Given the description of an element on the screen output the (x, y) to click on. 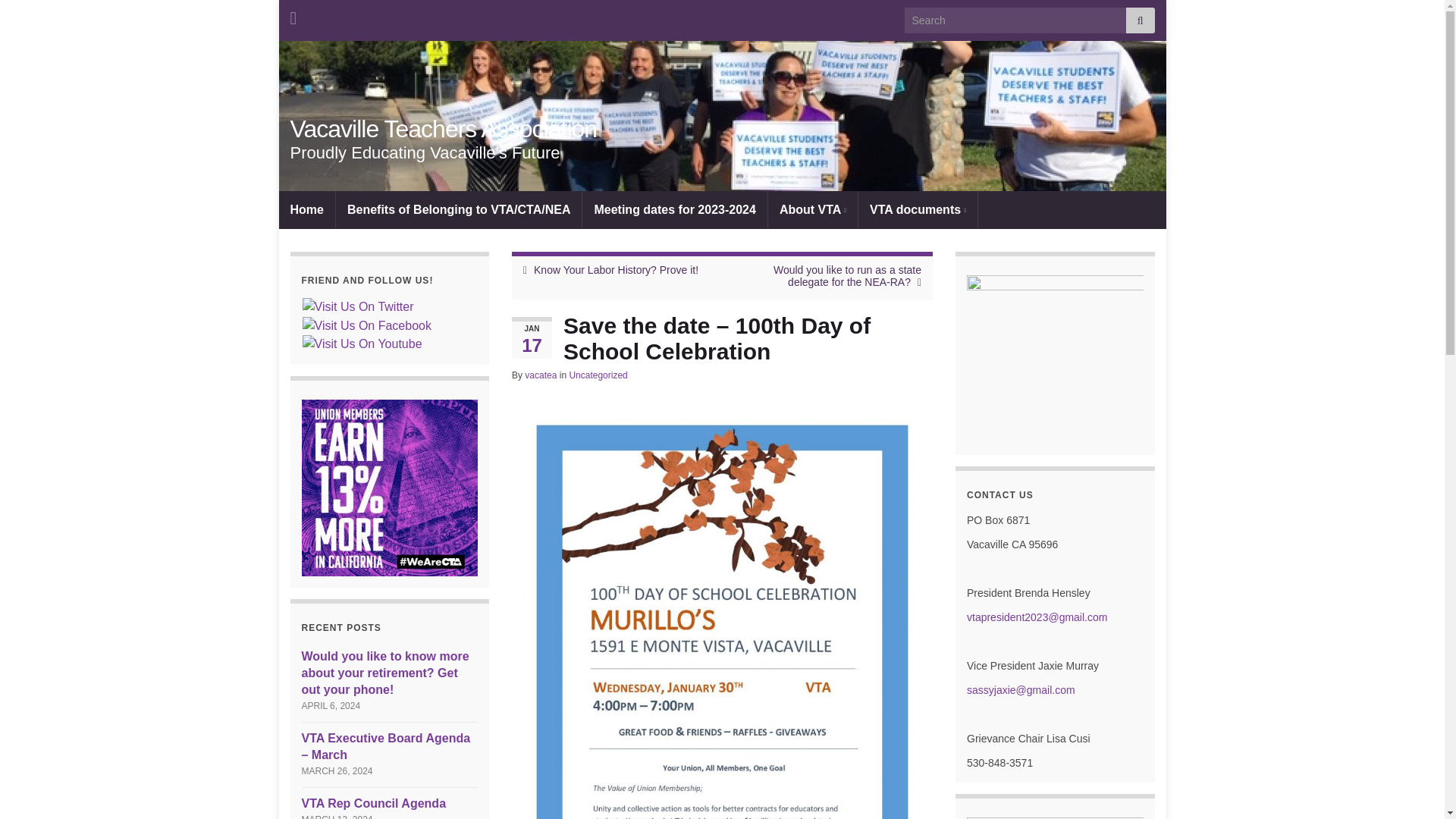
Go back to the front page (442, 128)
Meeting dates for 2023-2024 (674, 209)
VTA documents (917, 209)
Home (306, 209)
Vacaville Teachers Association (722, 115)
About VTA (812, 209)
Visit Us On Youtube (361, 343)
Vacaville Teachers Association (442, 128)
Visit Us On Twitter (357, 305)
Visit Us On Facebook (365, 324)
